Given the description of an element on the screen output the (x, y) to click on. 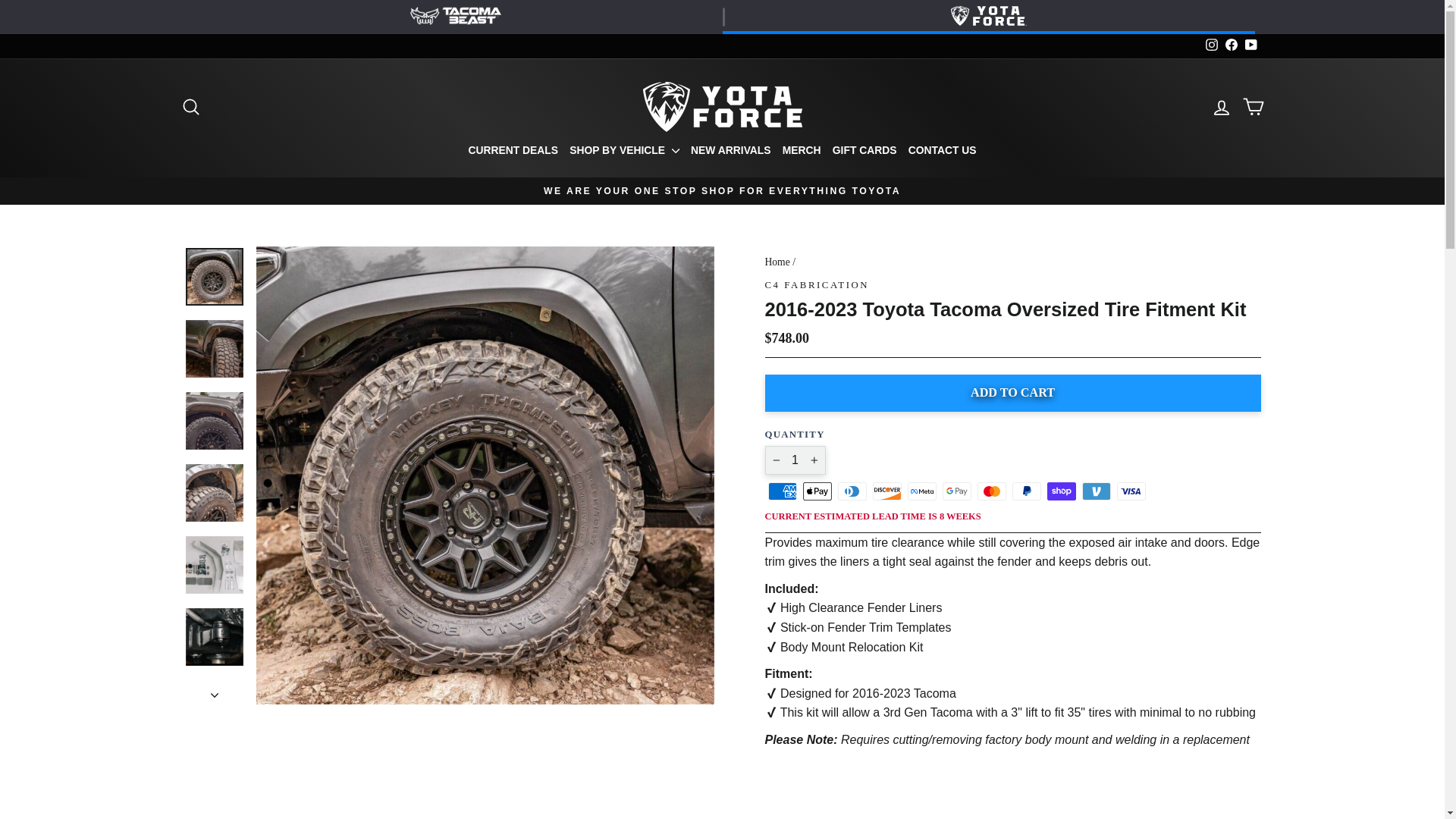
Apple Pay (816, 491)
Google Pay (956, 491)
Mastercard (991, 491)
Meta Pay (921, 491)
instagram (1211, 44)
ACCOUNT (1221, 107)
icon-chevron (214, 694)
Discover (886, 491)
YouTube video player (1012, 788)
Back to the frontpage (776, 261)
American Express (781, 491)
PayPal (1026, 491)
Diners Club (851, 491)
1 (794, 460)
C4 Fabrication (816, 285)
